Given the description of an element on the screen output the (x, y) to click on. 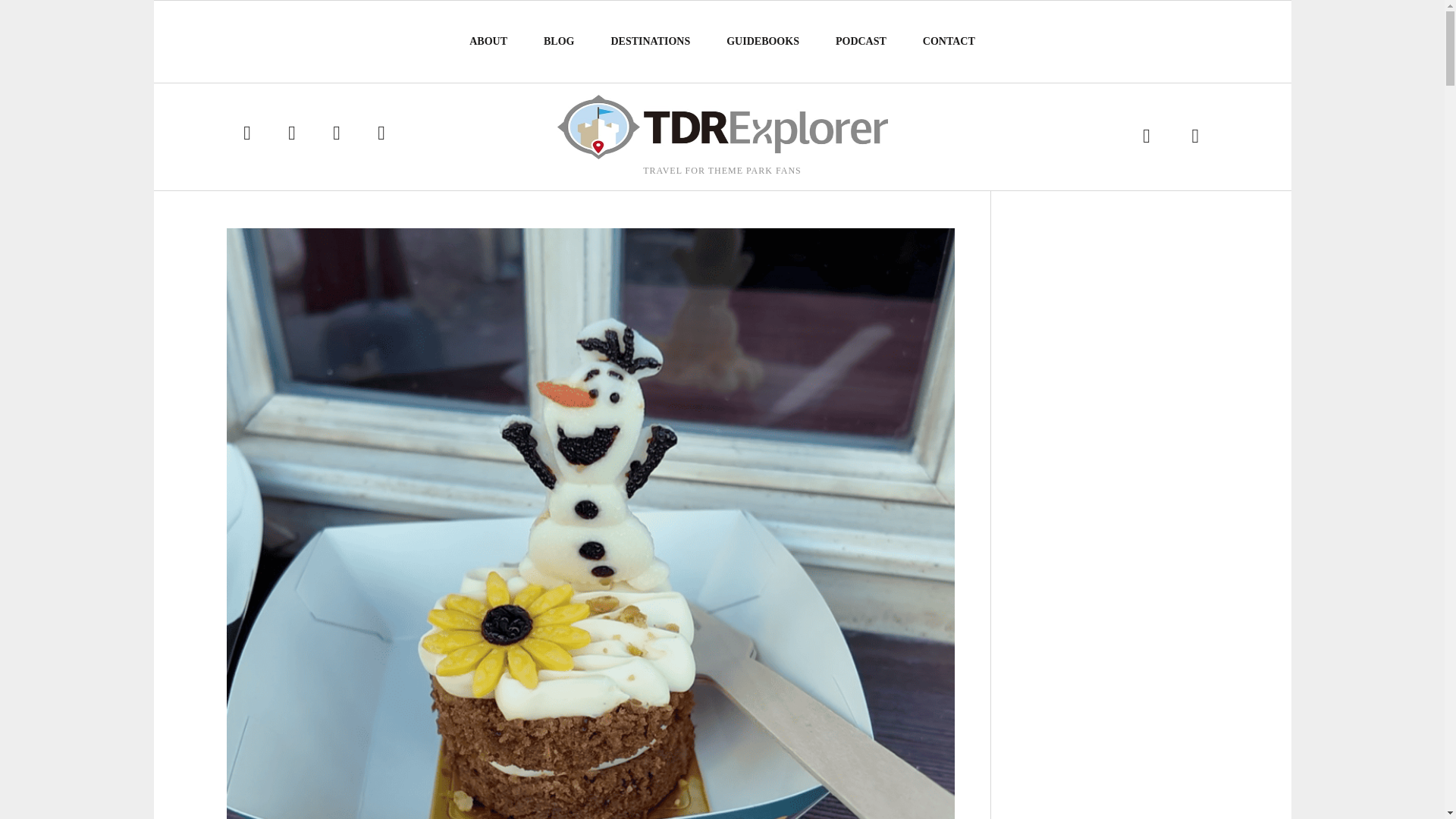
Our digital guidebooks (762, 41)
TDR Explorer (721, 126)
PODCAST (861, 41)
CONTACT (949, 41)
DESTINATIONS (650, 41)
ABOUT (488, 41)
Where do you want to travel? (650, 41)
BLOG (558, 41)
GUIDEBOOKS (762, 41)
